Given the description of an element on the screen output the (x, y) to click on. 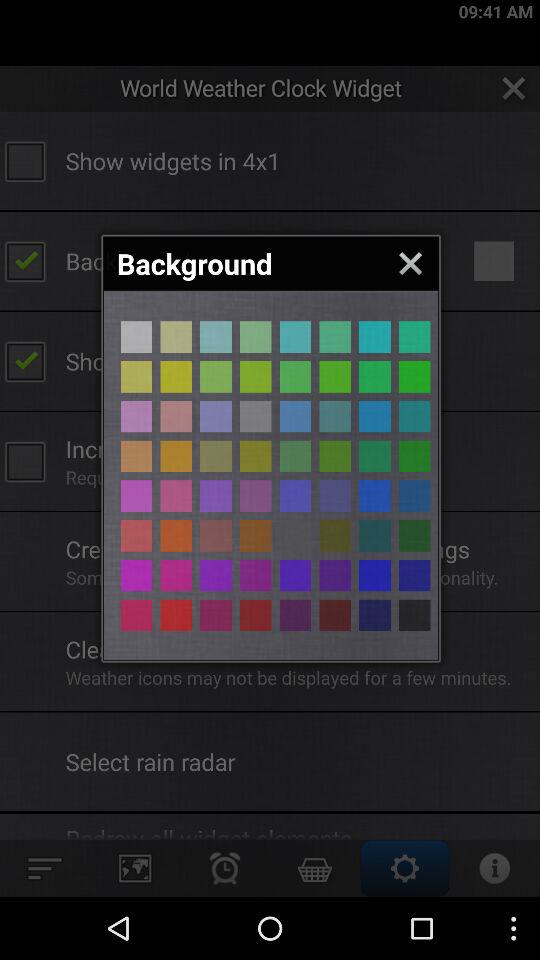
backround color (255, 495)
